Given the description of an element on the screen output the (x, y) to click on. 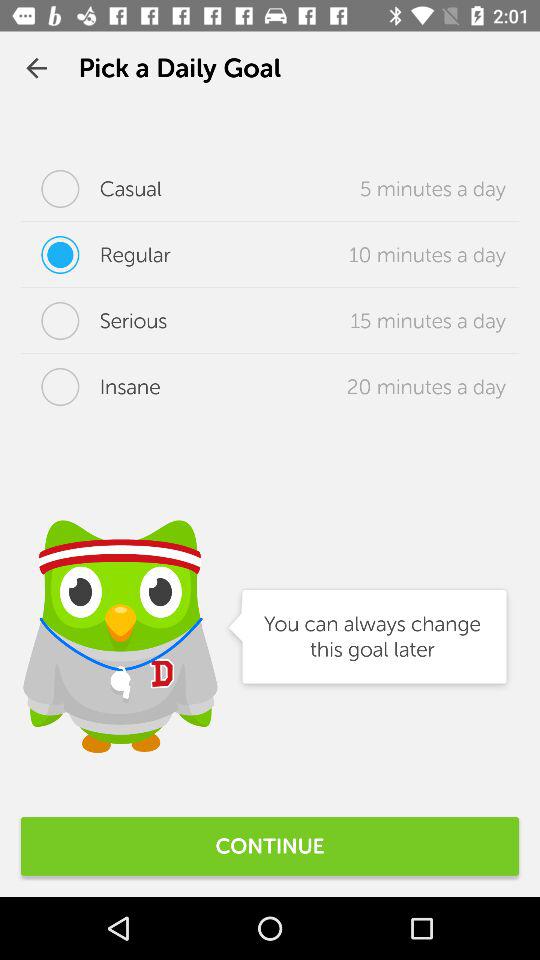
launch the serious item (94, 321)
